Given the description of an element on the screen output the (x, y) to click on. 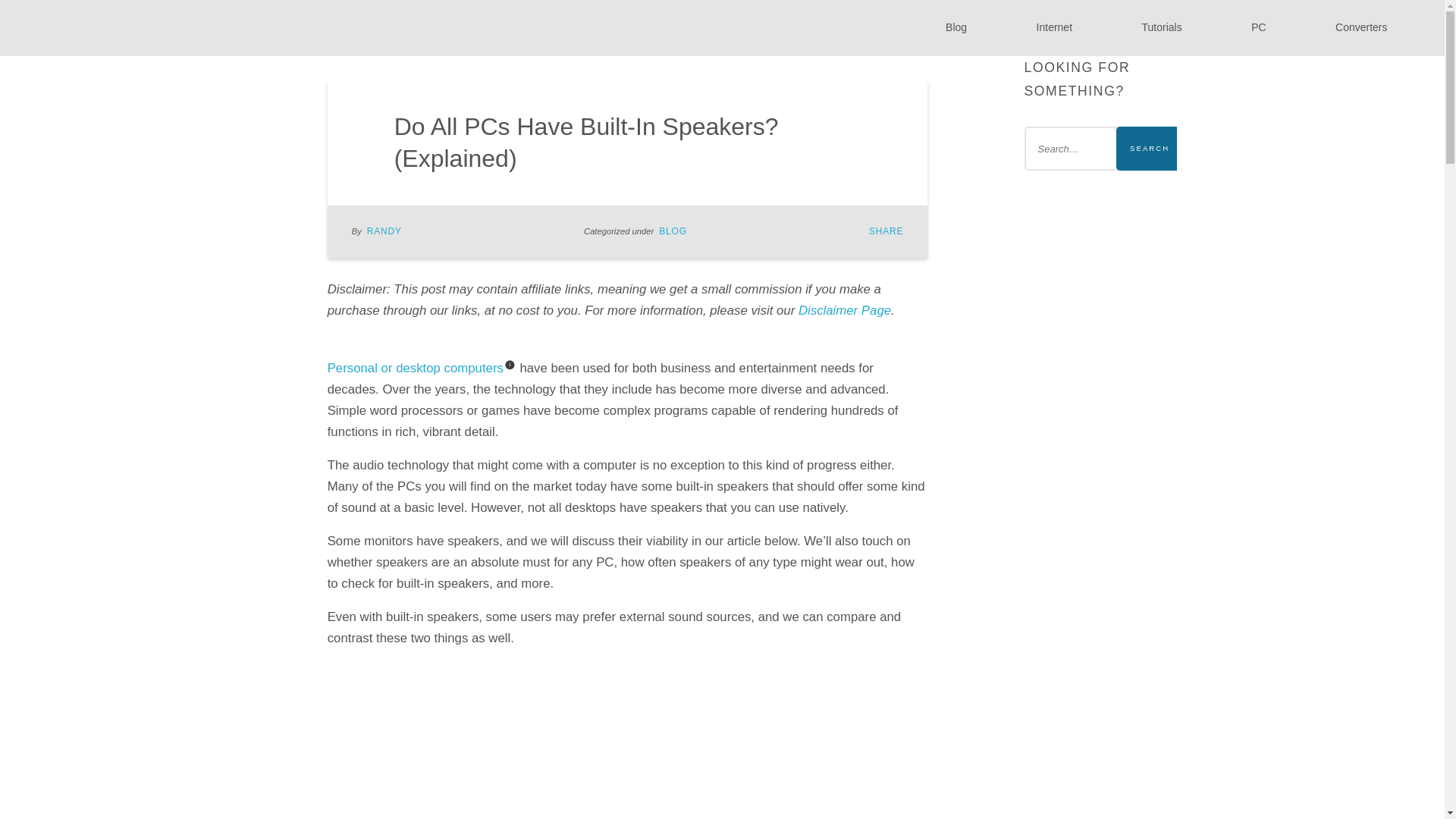
Disclaimer Page (844, 310)
SHARE (885, 231)
Search (1149, 148)
Search for: (1099, 148)
Blog (956, 27)
PC (1258, 27)
Internet (1053, 27)
Search (1149, 148)
Personal or desktop computers (415, 368)
Converters (1361, 27)
BLOG (673, 231)
Tutorials (1161, 27)
RANDY (383, 231)
Search (1149, 148)
